Given the description of an element on the screen output the (x, y) to click on. 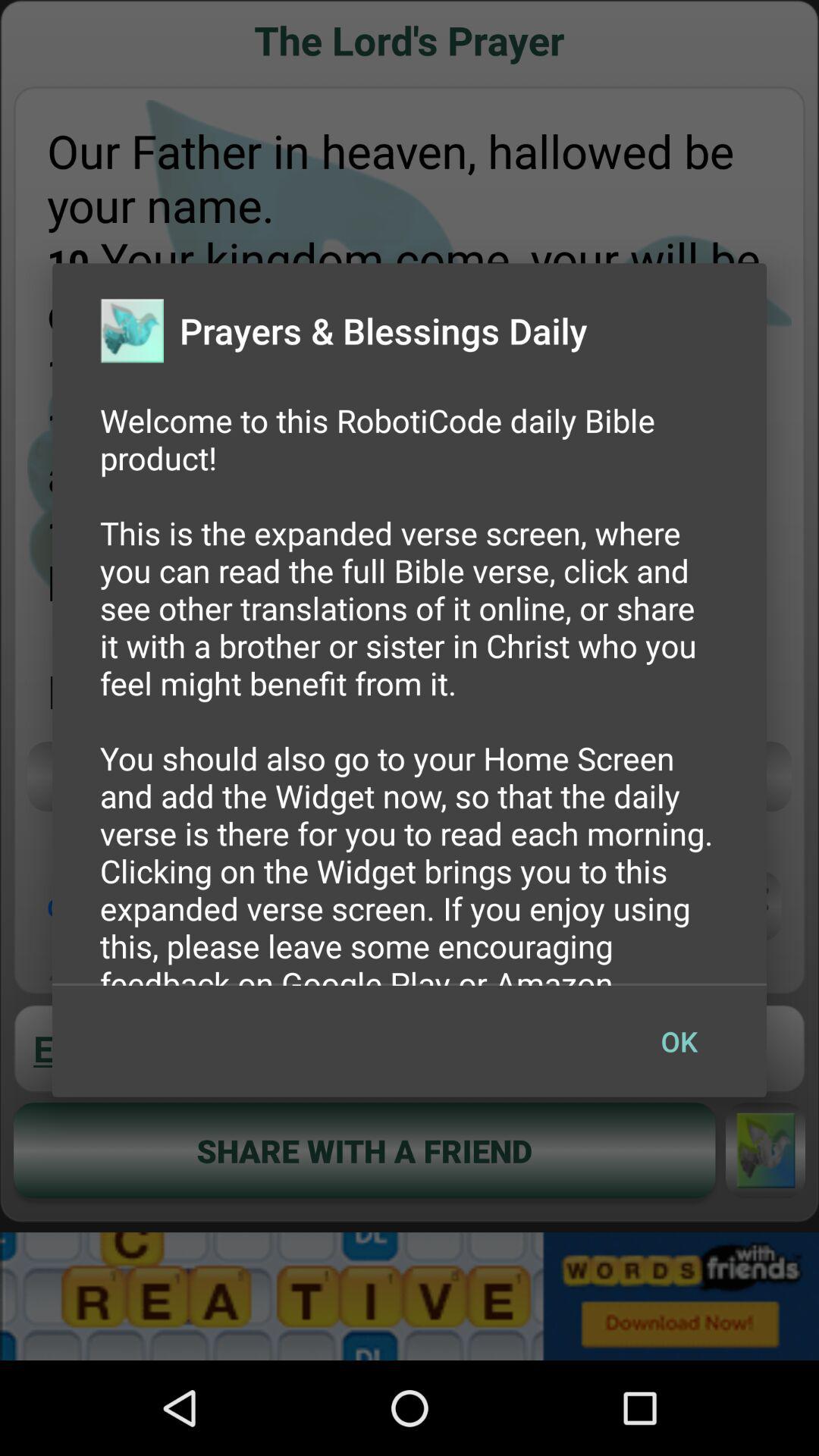
turn on ok (678, 1041)
